Given the description of an element on the screen output the (x, y) to click on. 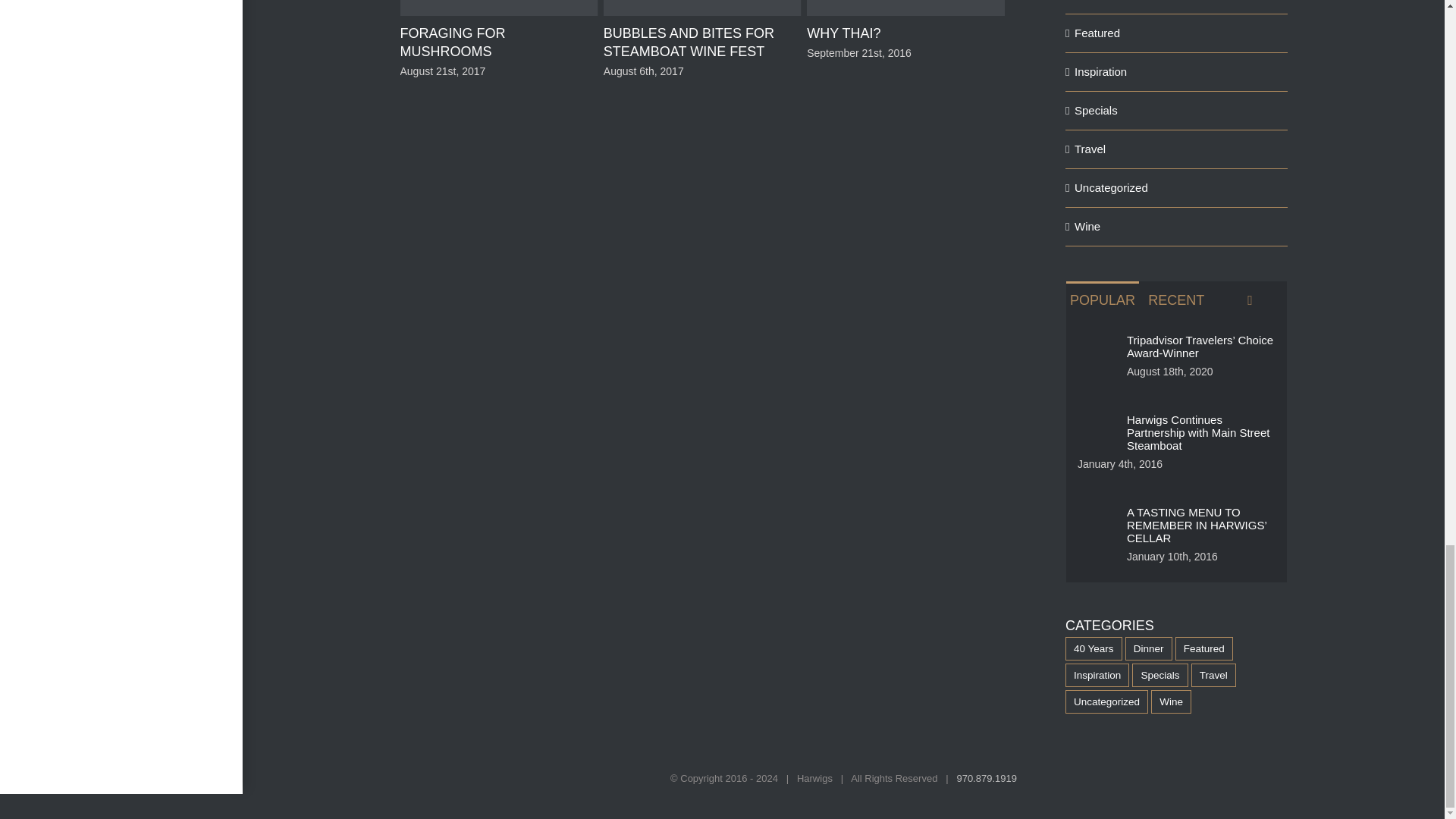
Foraging for Mushrooms (451, 41)
FORAGING FOR MUSHROOMS (451, 41)
Bubbles and Bites for Steamboat Wine Fest (689, 41)
Why Thai? (843, 32)
BUBBLES AND BITES FOR STEAMBOAT WINE FEST (689, 41)
